Given the description of an element on the screen output the (x, y) to click on. 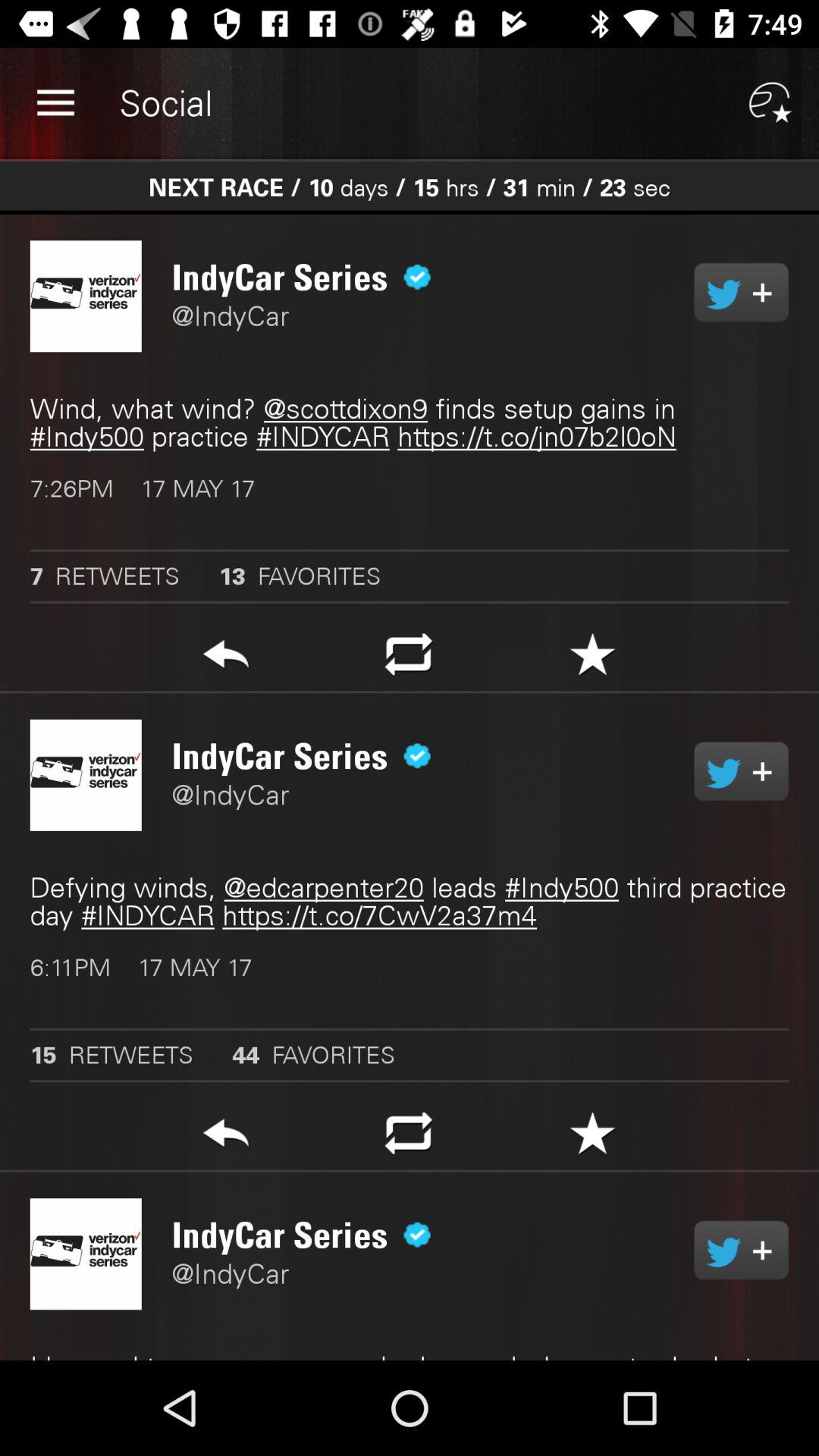
retweet (740, 291)
